Given the description of an element on the screen output the (x, y) to click on. 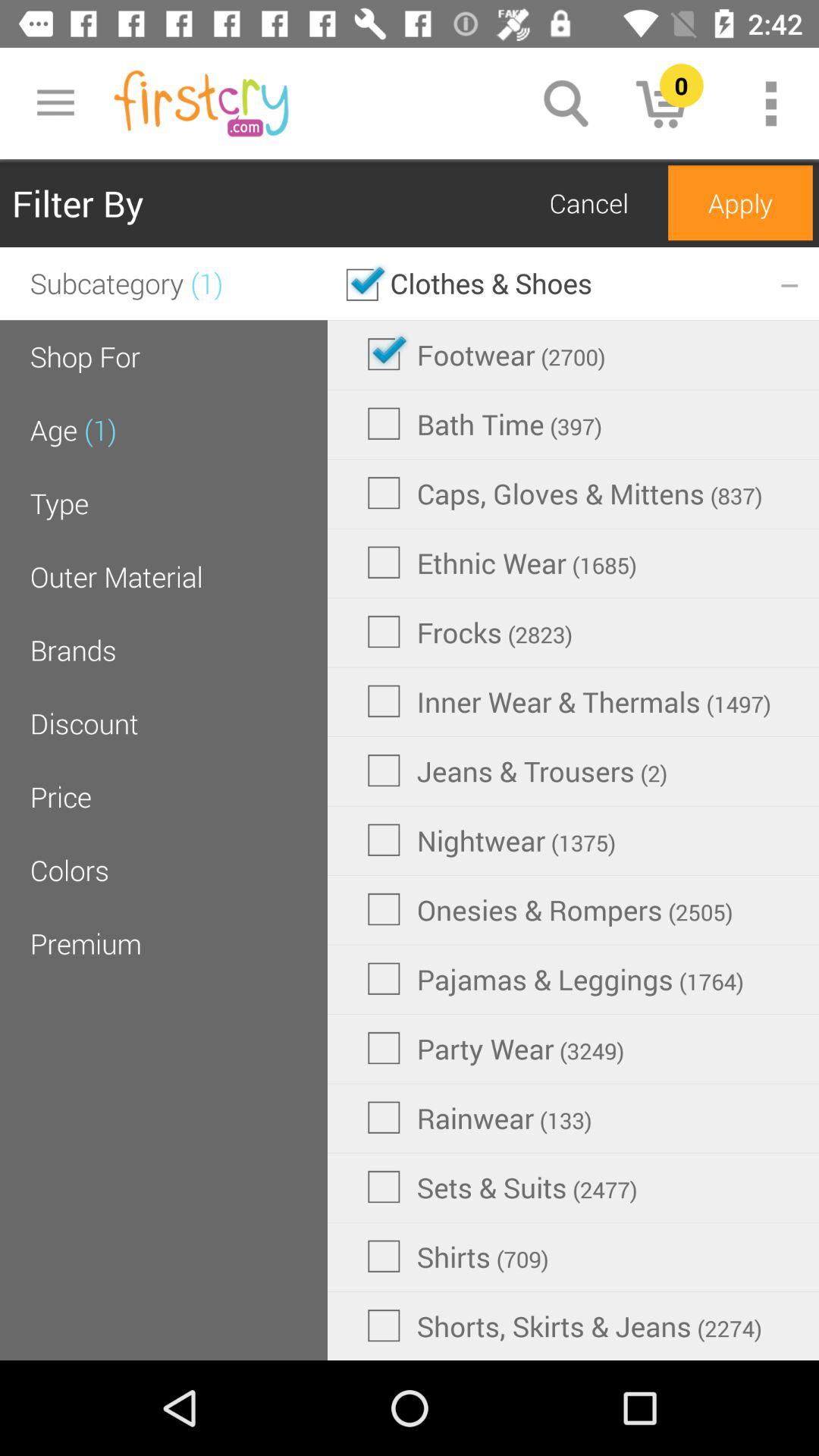
select item above party wear (3249) (555, 978)
